Given the description of an element on the screen output the (x, y) to click on. 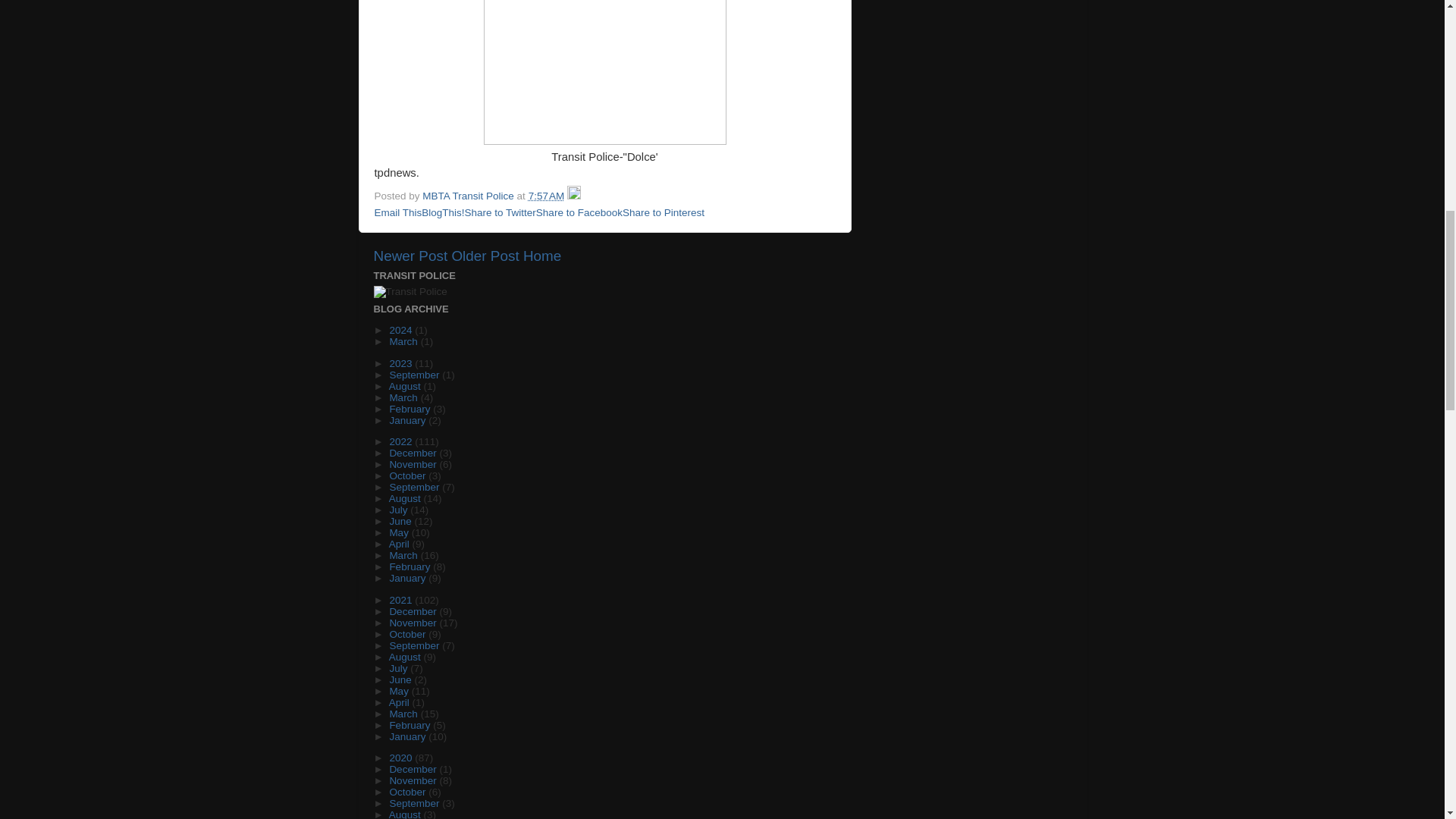
Share to Pinterest (663, 212)
BlogThis! (443, 212)
Edit Post (573, 195)
October (408, 475)
Email This (398, 212)
September (415, 374)
Newer Post (409, 255)
December (413, 452)
March (404, 341)
November (413, 464)
2023 (401, 363)
Share to Twitter (499, 212)
Share to Facebook (579, 212)
2024 (401, 329)
Share to Facebook (579, 212)
